Given the description of an element on the screen output the (x, y) to click on. 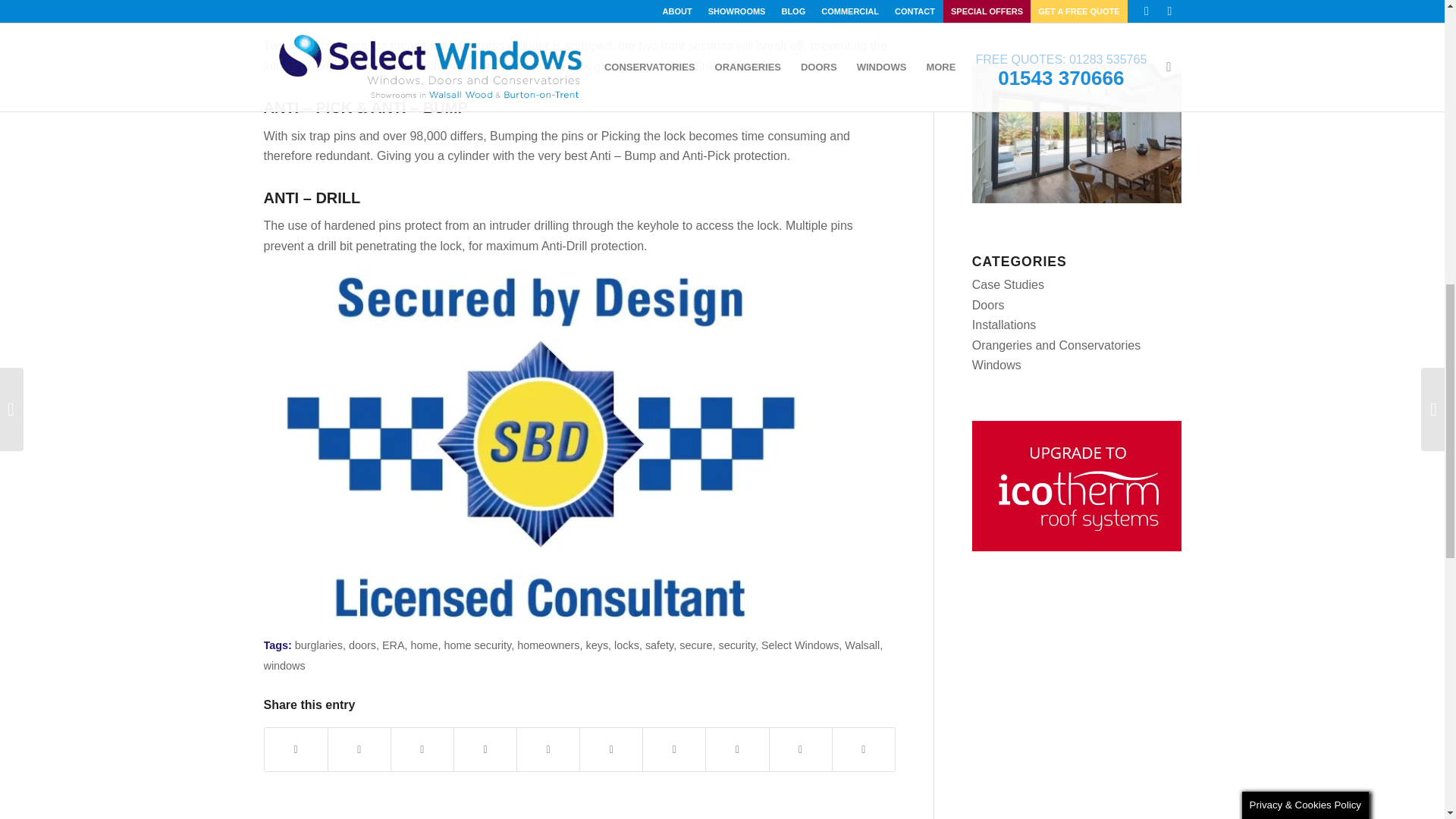
locks (626, 645)
ERA (392, 645)
doors (362, 645)
homeowners (547, 645)
safety (658, 645)
Select Windows (799, 645)
secure (695, 645)
burglaries (318, 645)
home security (478, 645)
keys (597, 645)
home (424, 645)
security (736, 645)
